Given the description of an element on the screen output the (x, y) to click on. 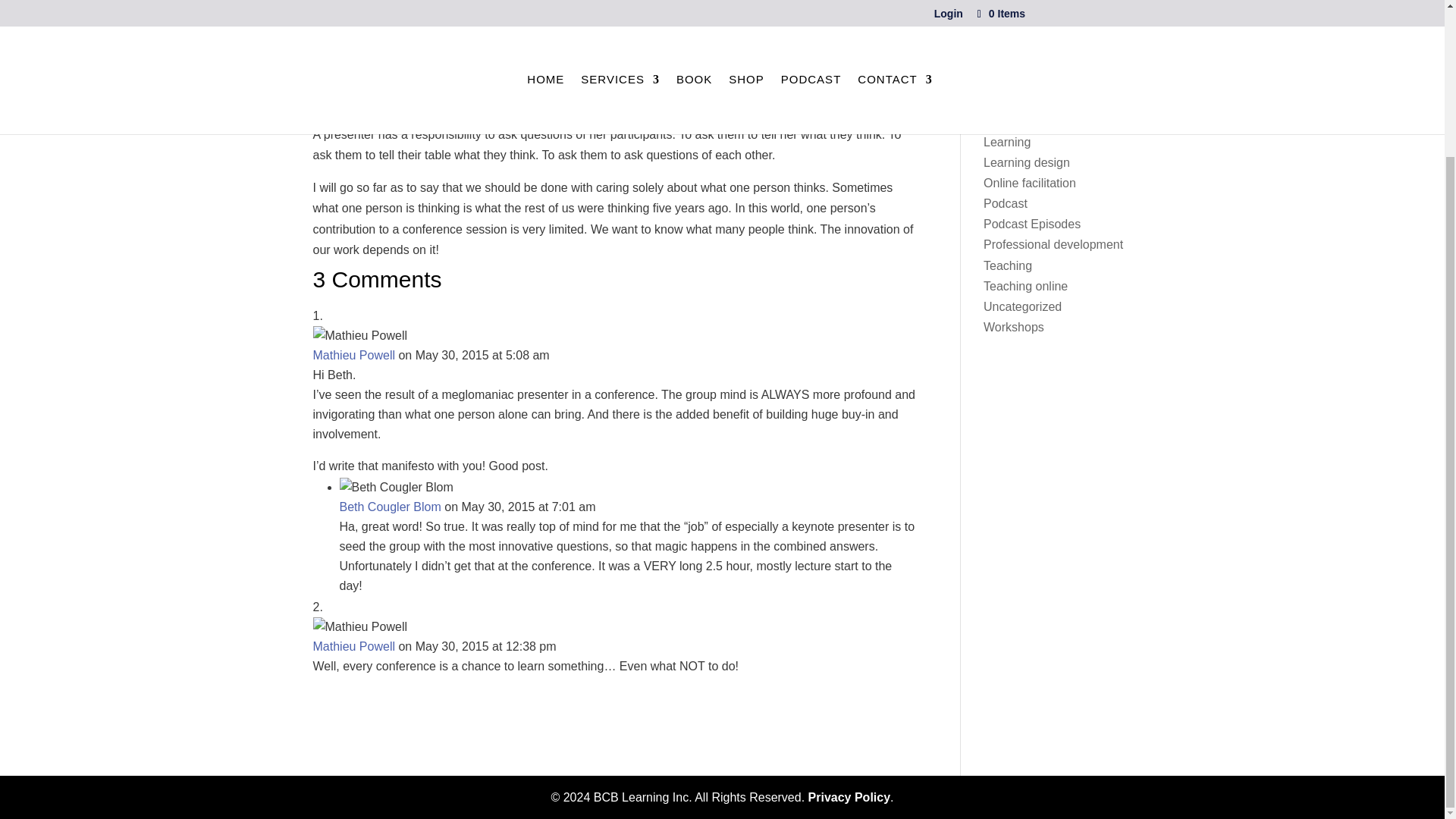
Books (1000, 38)
Learning design (1027, 162)
Learning (1007, 141)
Podcast Episodes (1032, 223)
Teaching (1008, 265)
Mathieu Powell (353, 354)
Workshops (1013, 327)
Professional development (1053, 244)
Uncategorized (1022, 306)
Consulting (1012, 79)
